Given the description of an element on the screen output the (x, y) to click on. 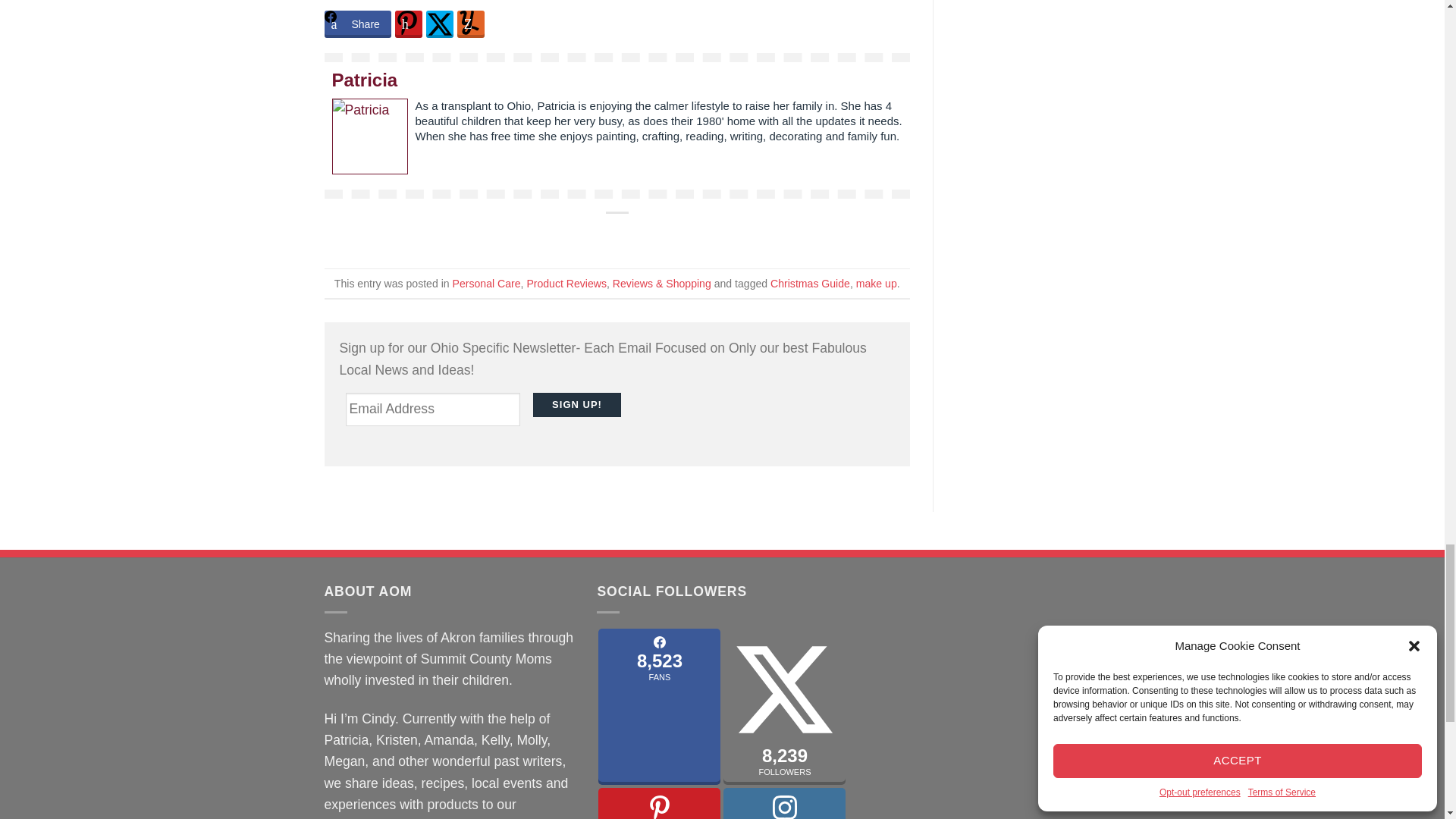
Share on Share (357, 23)
Share on - (439, 23)
Sign up! (576, 405)
Share on - (408, 23)
